Given the description of an element on the screen output the (x, y) to click on. 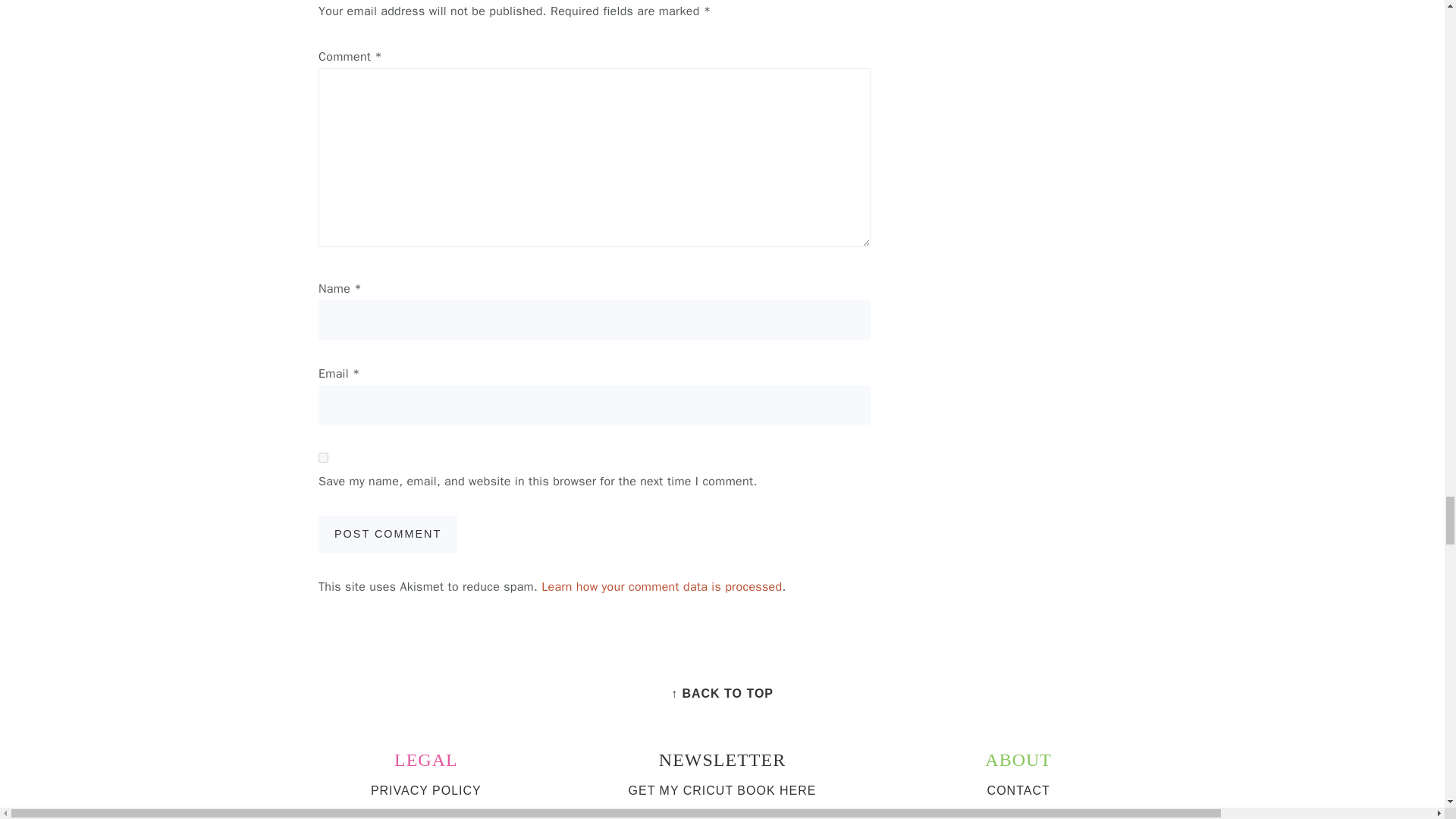
yes (323, 457)
Post Comment (387, 533)
